Given the description of an element on the screen output the (x, y) to click on. 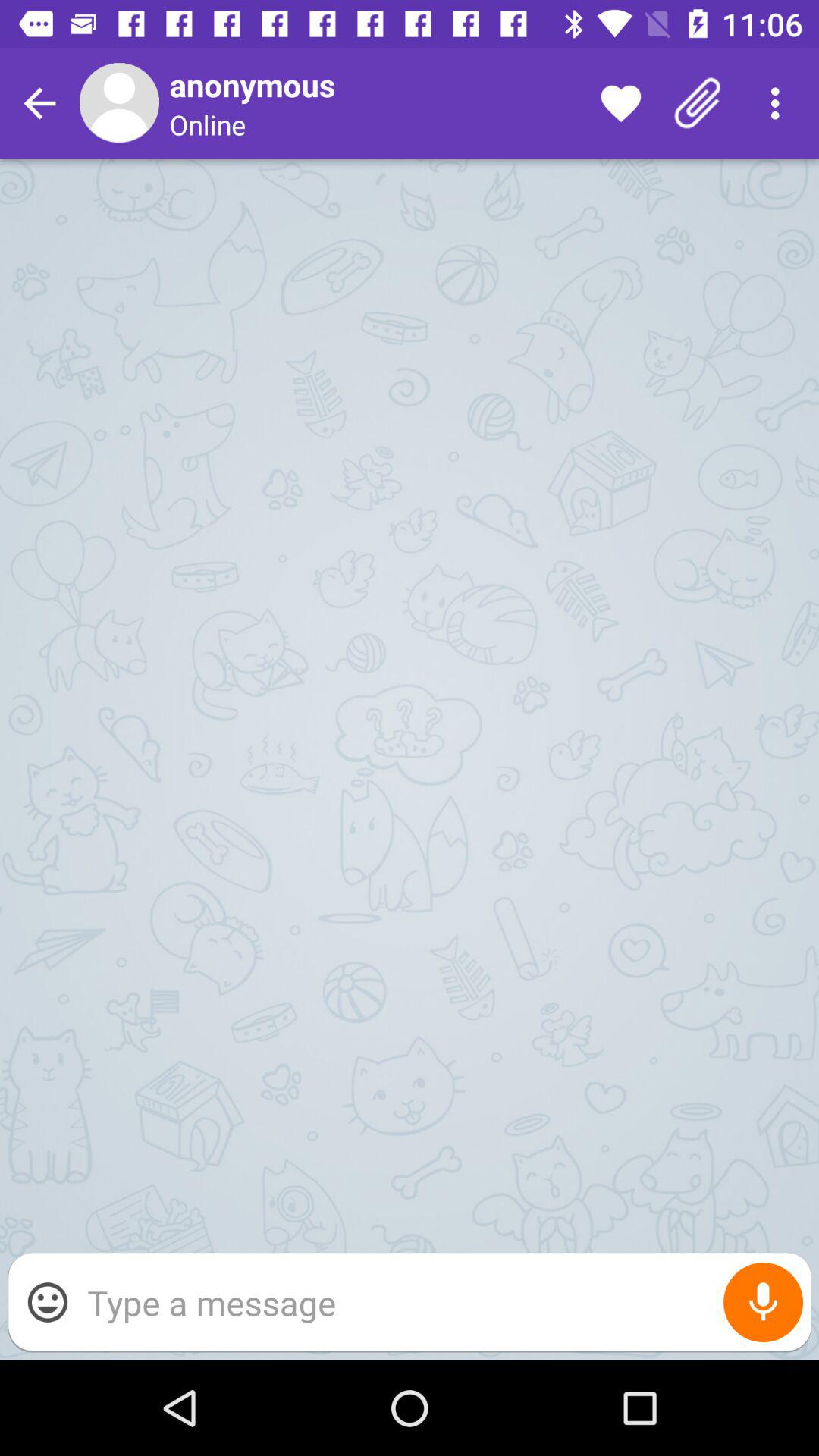
record voice message (763, 1302)
